Given the description of an element on the screen output the (x, y) to click on. 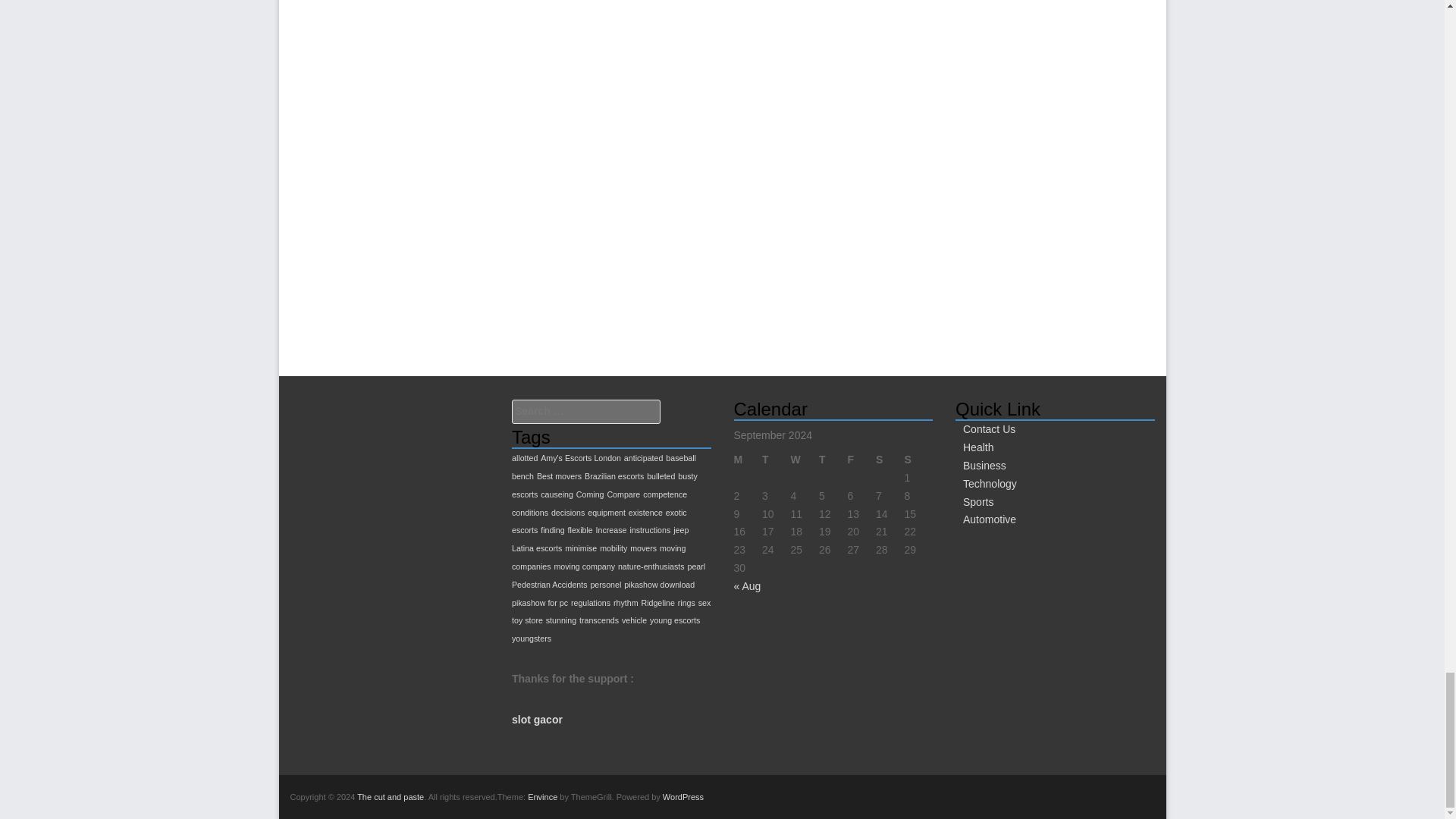
Tuesday (775, 460)
Saturday (890, 460)
Sunday (918, 460)
Thursday (832, 460)
Friday (861, 460)
Monday (747, 460)
Wednesday (804, 460)
